Given the description of an element on the screen output the (x, y) to click on. 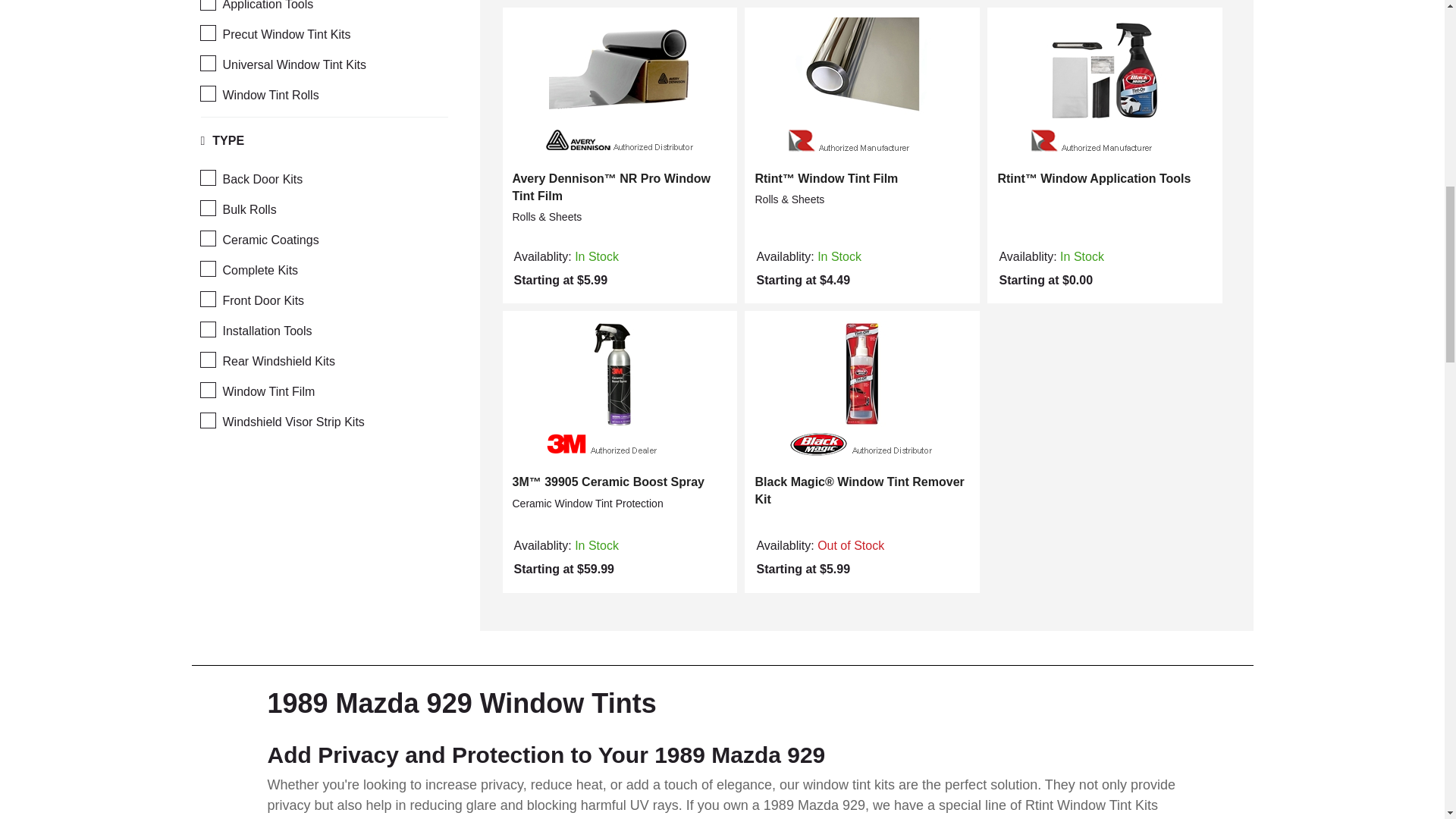
on (207, 390)
on (207, 420)
on (207, 4)
on (207, 329)
on (207, 32)
on (207, 237)
on (207, 268)
on (207, 207)
on (207, 177)
on (207, 93)
on (207, 63)
on (207, 359)
on (207, 298)
